Given the description of an element on the screen output the (x, y) to click on. 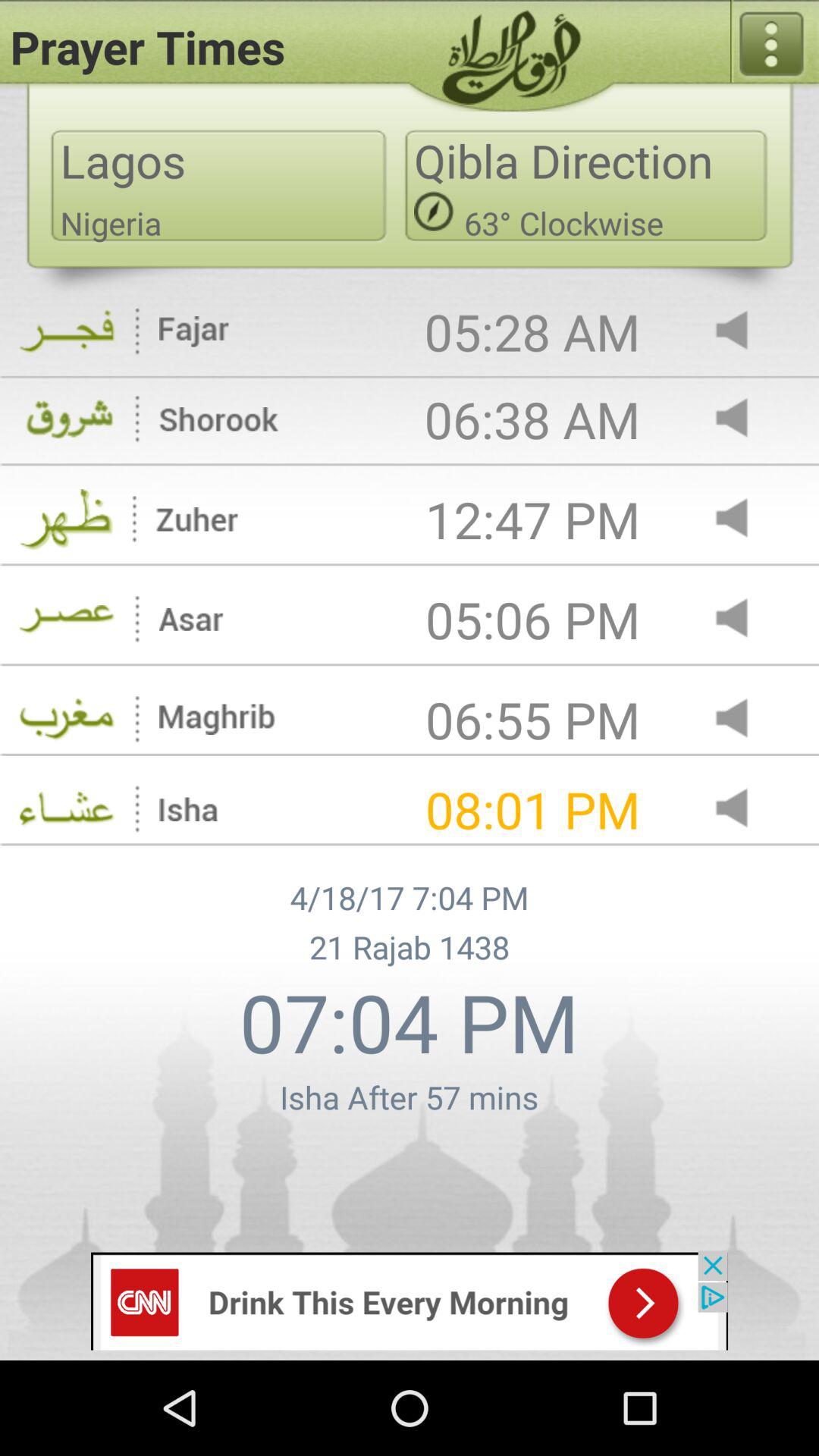
select volume (744, 519)
